Given the description of an element on the screen output the (x, y) to click on. 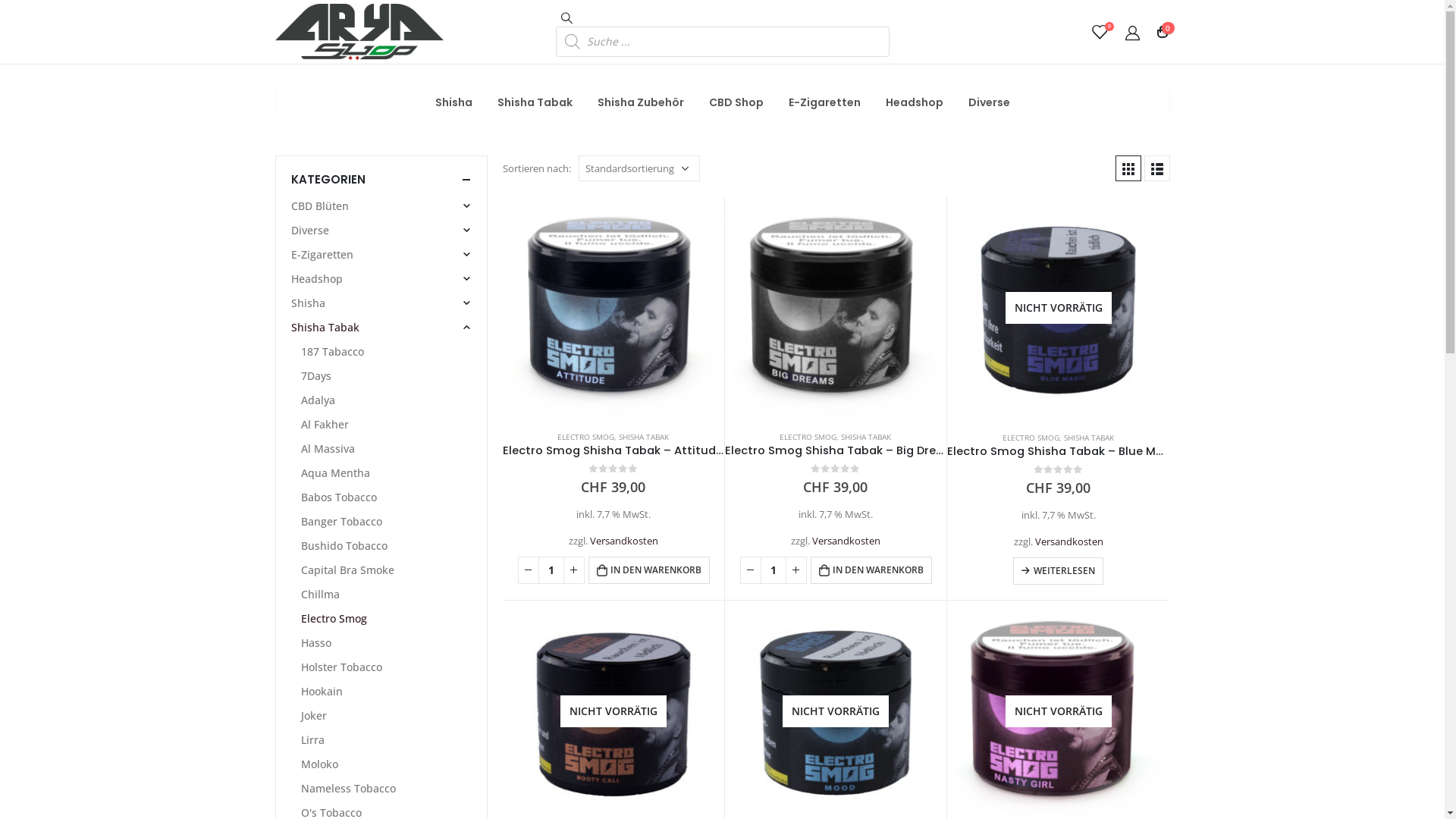
Shisha Tabak Element type: text (325, 327)
7Days Element type: text (316, 376)
Lirra Element type: text (312, 740)
Mein Konto Element type: hover (1131, 32)
Listenansicht Element type: hover (1156, 168)
Headshop Element type: text (316, 278)
E-Zigaretten Element type: text (322, 254)
Shisha Tabak Element type: text (534, 102)
ELECTRO SMOG Element type: text (807, 436)
Al Massiva Element type: text (327, 448)
Shisha Element type: text (308, 303)
ELECTRO SMOG Element type: text (585, 436)
E-Zigaretten Element type: text (824, 102)
- Element type: text (750, 569)
Versandkosten Element type: text (623, 540)
Versandkosten Element type: text (846, 540)
0 Element type: text (1098, 32)
- Element type: text (528, 569)
SHISHA TABAK Element type: text (1088, 437)
Hasso Element type: text (316, 642)
Babos Tobacco Element type: text (338, 497)
SHISHA TABAK Element type: text (643, 436)
Nameless Tobacco Element type: text (348, 788)
Adalya Element type: text (318, 400)
+ Element type: text (573, 569)
Banger Tobacco Element type: text (341, 521)
Tabellenansicht Element type: hover (1127, 168)
187 Tabacco Element type: text (332, 351)
Hookain Element type: text (321, 691)
Versandkosten Element type: text (1069, 541)
Arya Shop - Shisha | Vapes | Online kaufen Element type: hover (358, 31)
Al Fakher Element type: text (324, 424)
Chillma Element type: text (320, 594)
+ Element type: text (795, 569)
Joker Element type: text (313, 715)
Diverse Element type: text (982, 102)
SHISHA TABAK Element type: text (865, 436)
Bushido Tobacco Element type: text (344, 545)
Diverse Element type: text (310, 230)
Capital Bra Smoke Element type: text (347, 570)
ELECTRO SMOG Element type: text (1030, 437)
Shisha Element type: text (459, 102)
WEITERLESEN Element type: text (1058, 570)
Moloko Element type: text (319, 764)
Electro Smog Element type: text (334, 618)
Headshop Element type: text (914, 102)
CBD Shop Element type: text (735, 102)
Holster Tobacco Element type: text (341, 667)
Aqua Mentha Element type: text (335, 473)
